Given the description of an element on the screen output the (x, y) to click on. 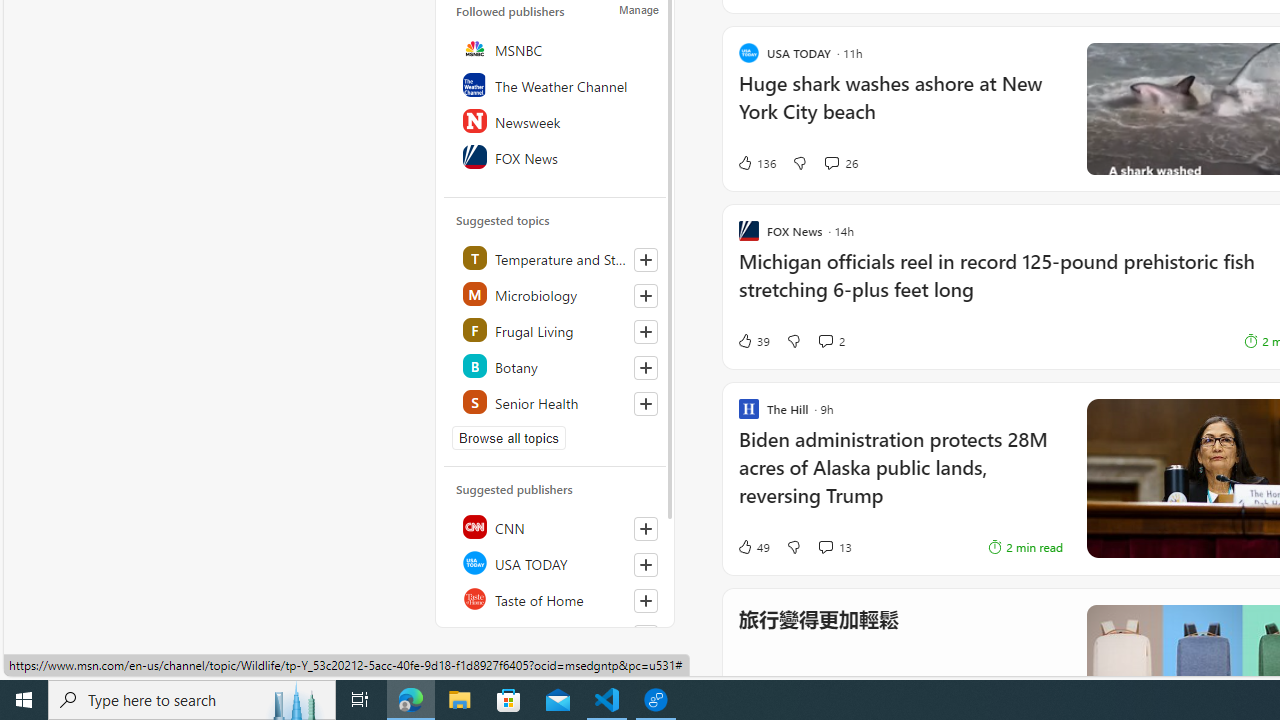
Follow this source (645, 600)
49 Like (753, 546)
View comments 26 Comment (831, 162)
MSNBC (556, 48)
Follow this topic (645, 403)
39 Like (753, 340)
CNN (556, 526)
Browse all topics (509, 438)
The Weather Channel (556, 84)
Follow this topic (645, 403)
View comments 26 Comment (840, 162)
View comments 2 Comment (830, 340)
